Given the description of an element on the screen output the (x, y) to click on. 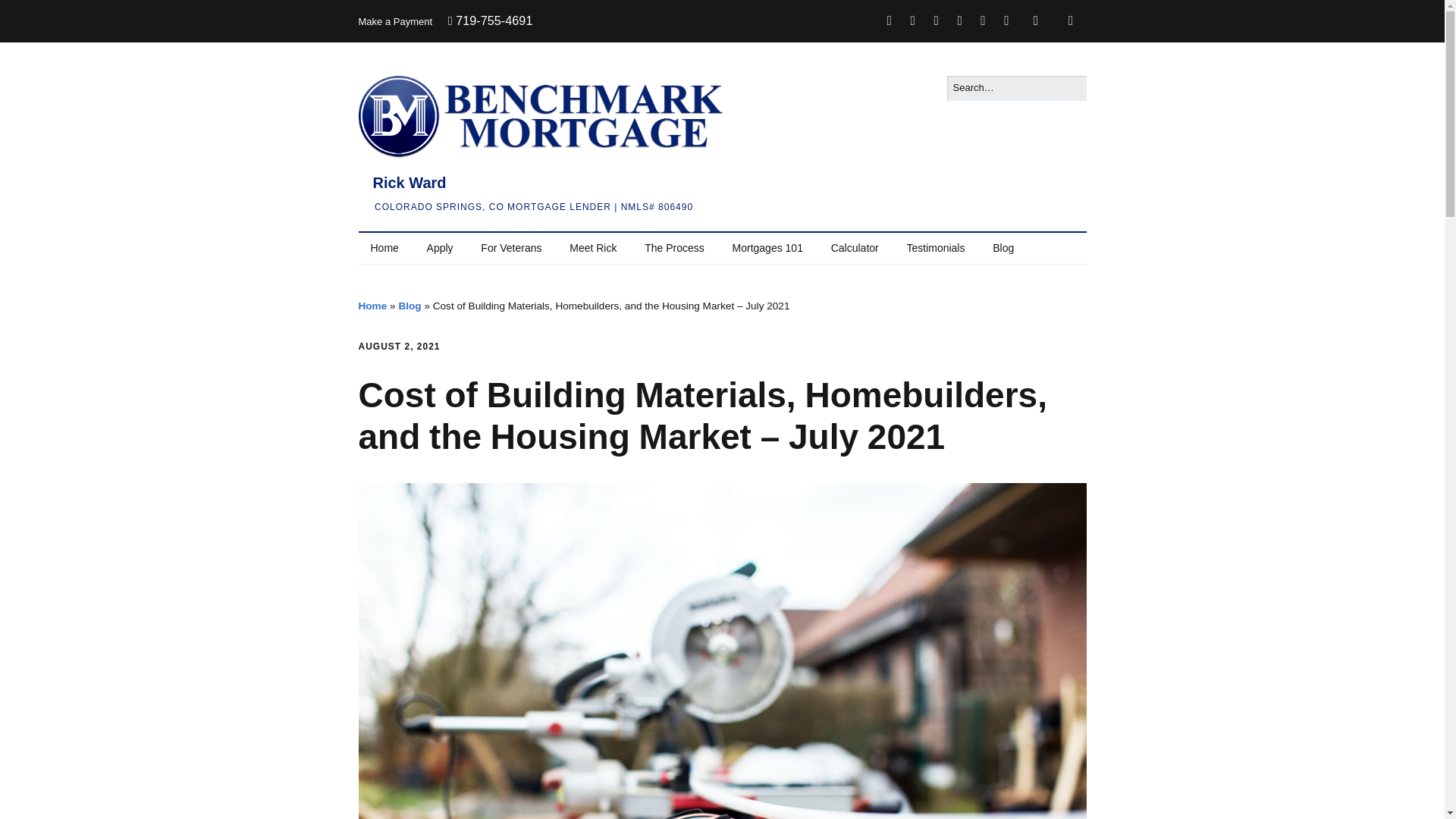
Make a Payment (395, 21)
Blog (408, 306)
Home (372, 306)
Apply (439, 248)
Home (384, 248)
719-755-4691 (490, 21)
For Veterans (510, 248)
Blog (1002, 248)
These are the steps to take to get to home-ownership. (673, 248)
Search (29, 15)
